Given the description of an element on the screen output the (x, y) to click on. 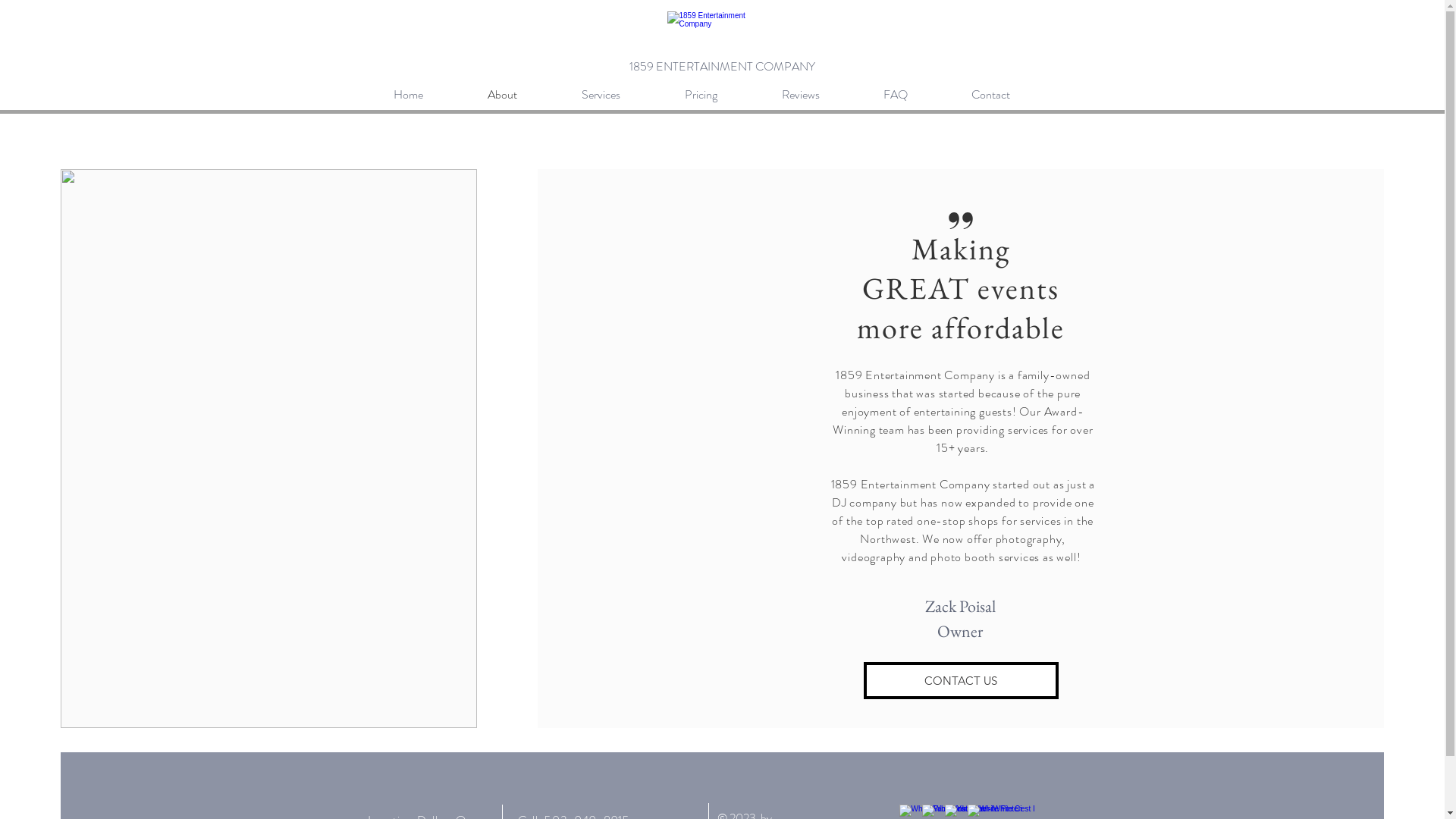
Services Element type: text (621, 94)
CONTACT US Element type: text (960, 680)
Reviews Element type: text (821, 94)
FAQ Element type: text (916, 94)
About Element type: text (523, 94)
Pricing Element type: text (721, 94)
Home Element type: text (429, 94)
Contact Element type: text (1011, 94)
1859 ENTERTAINMENT COMPANY Element type: text (722, 66)
